Given the description of an element on the screen output the (x, y) to click on. 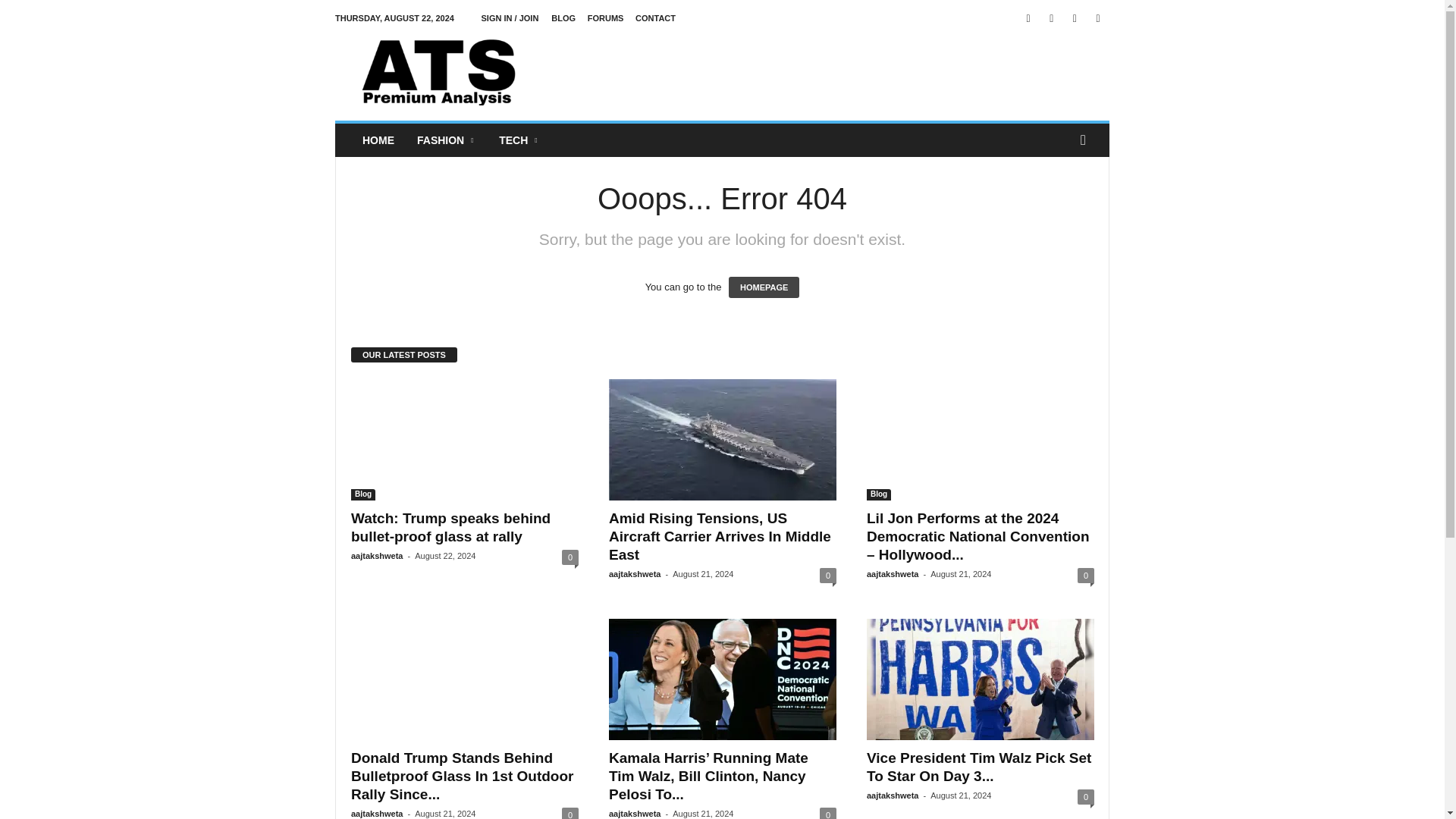
0 (570, 557)
BLOG (563, 17)
FORUMS (606, 17)
Blog (362, 494)
Watch: Trump speaks behind bullet-proof glass at rally (464, 439)
TECH (519, 140)
FASHION (446, 140)
Watch: Trump speaks behind bullet-proof glass at rally (450, 527)
